Given the description of an element on the screen output the (x, y) to click on. 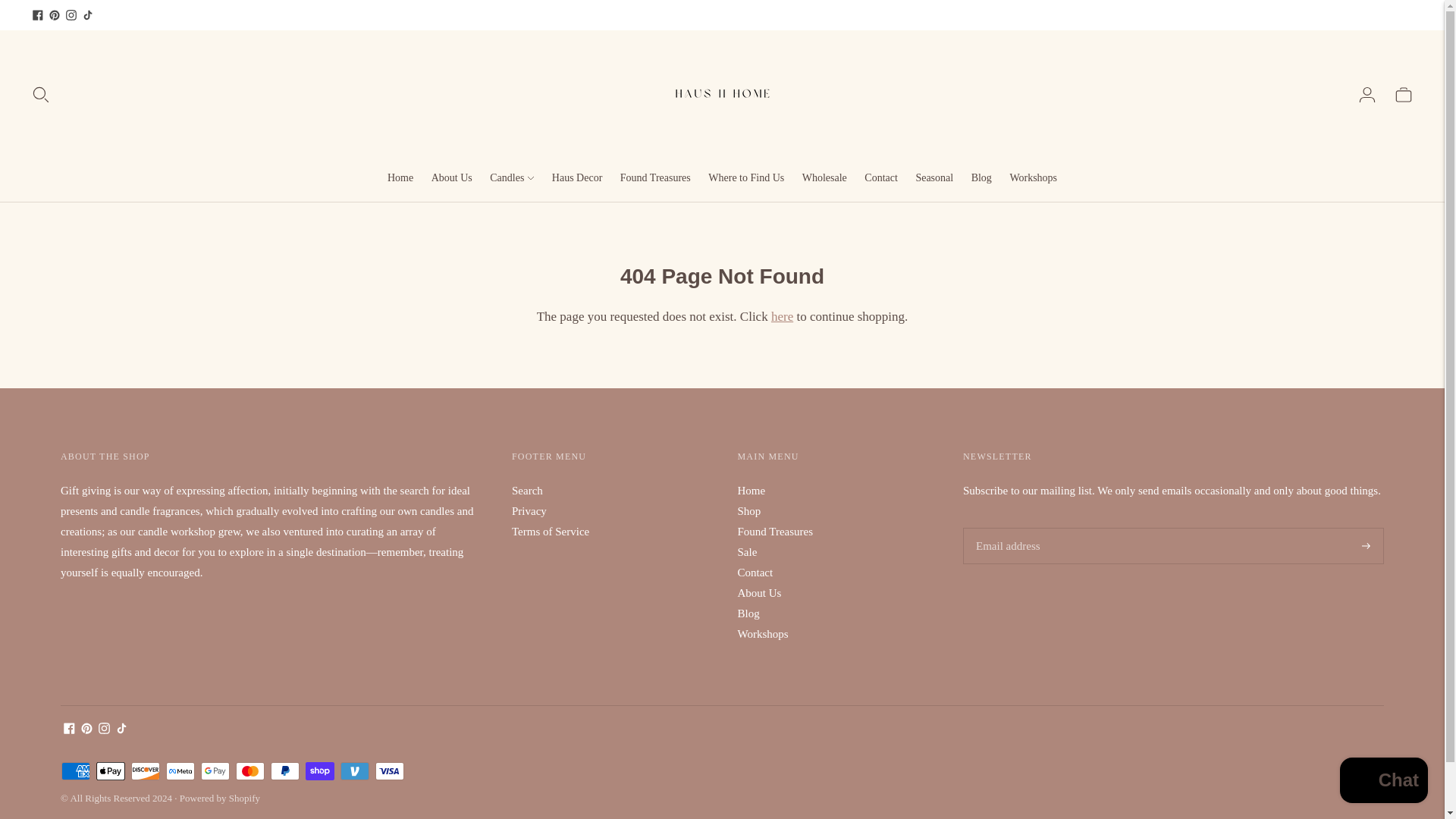
haus2hometx on Facebook (37, 14)
Shopify online store chat (1383, 781)
haus2hometx on Instagram (71, 14)
haus2hometx on Pinterest (87, 729)
haus2hometx on Pinterest (54, 14)
haus2hometx on Instagram (104, 729)
haus2hometx on Facebook (69, 729)
haus2hometx on TikTok (87, 14)
haus2hometx on TikTok (122, 729)
